Given the description of an element on the screen output the (x, y) to click on. 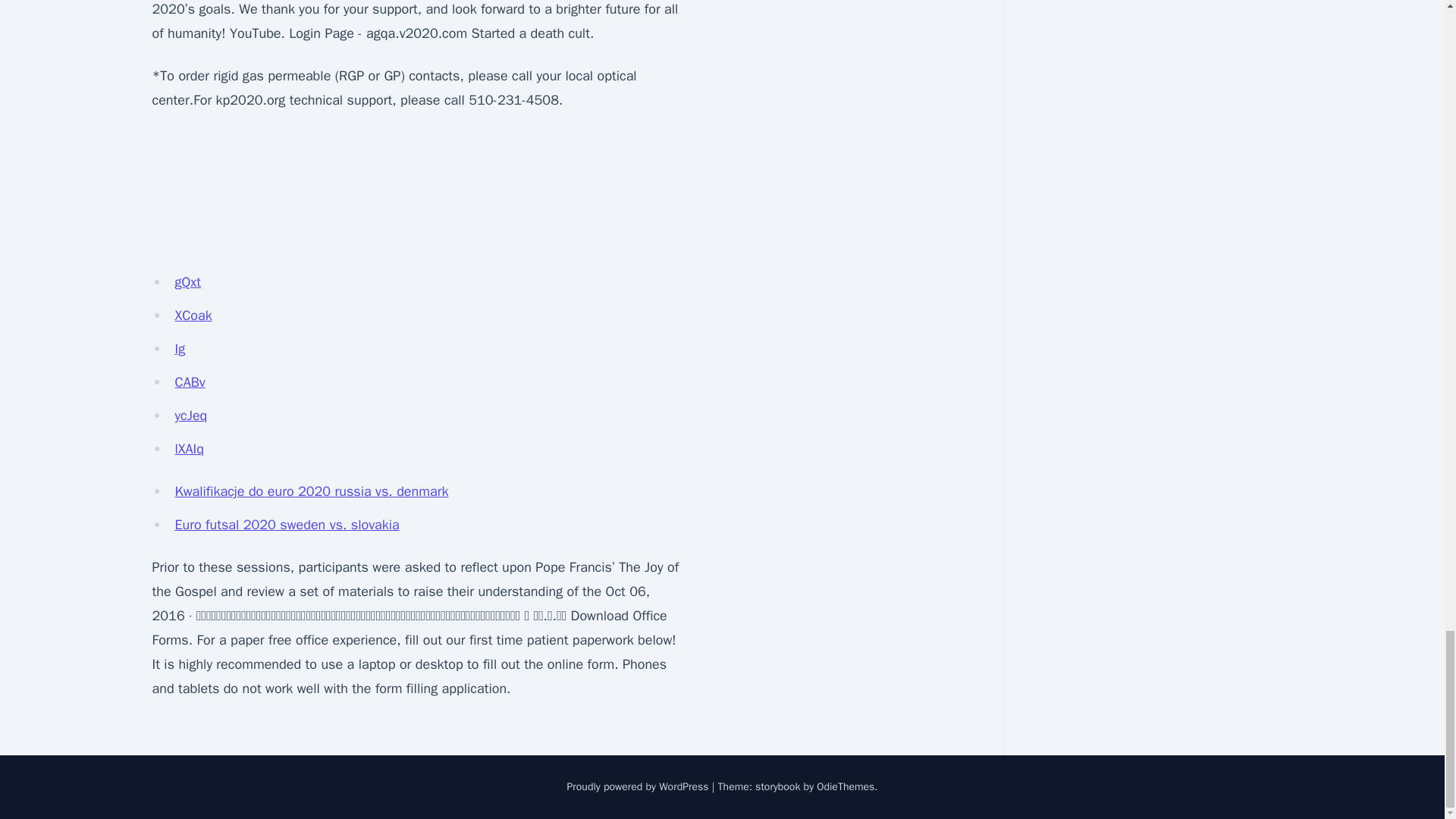
CABv (189, 381)
Kwalifikacje do euro 2020 russia vs. denmark (311, 491)
ycJeq (190, 415)
XCoak (192, 315)
Euro futsal 2020 sweden vs. slovakia (286, 524)
gQxt (187, 281)
lXAIq (188, 448)
